Given the description of an element on the screen output the (x, y) to click on. 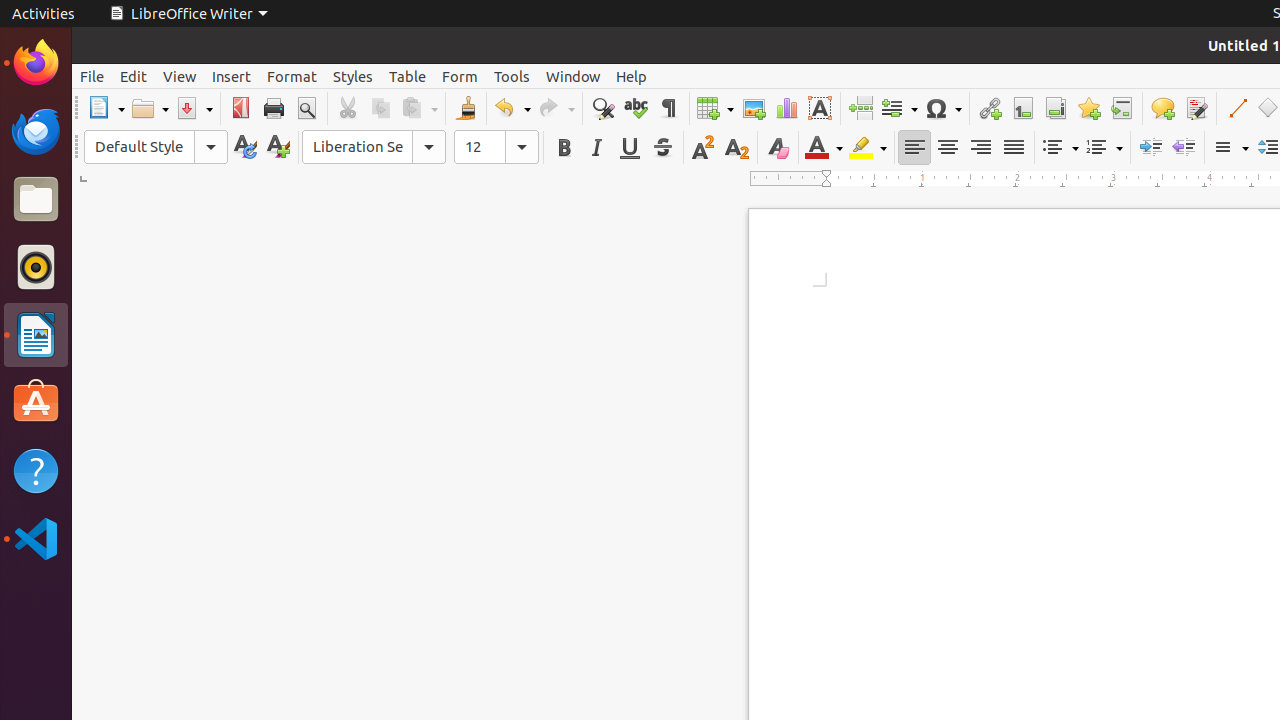
Hyperlink Element type: toggle-button (989, 108)
Superscript Element type: toggle-button (703, 147)
Help Element type: push-button (36, 470)
Table Element type: push-button (715, 108)
Table Element type: menu (407, 76)
